Given the description of an element on the screen output the (x, y) to click on. 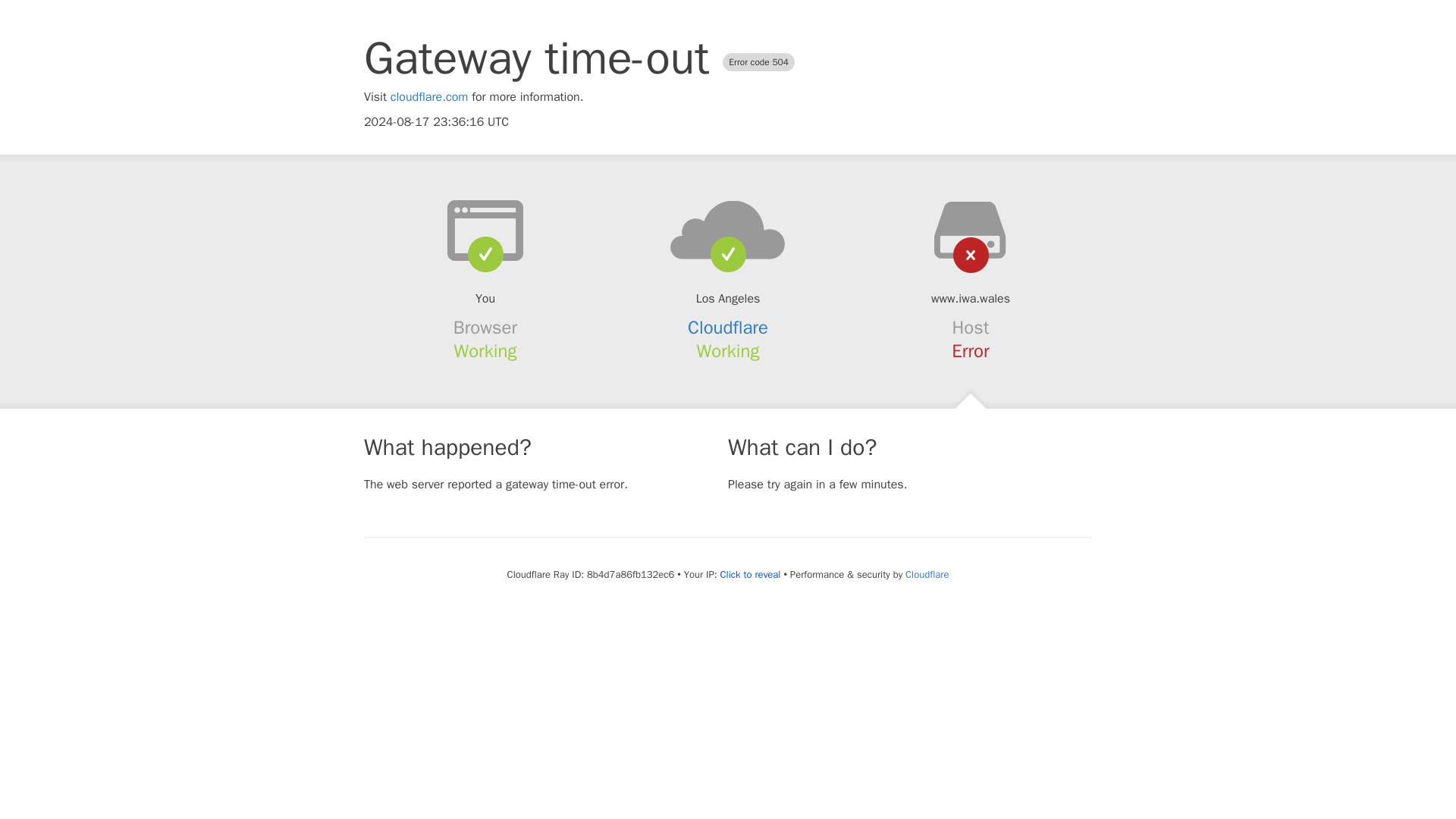
Cloudflare (927, 574)
Cloudflare (727, 327)
Click to reveal (750, 574)
cloudflare.com (429, 96)
